Given the description of an element on the screen output the (x, y) to click on. 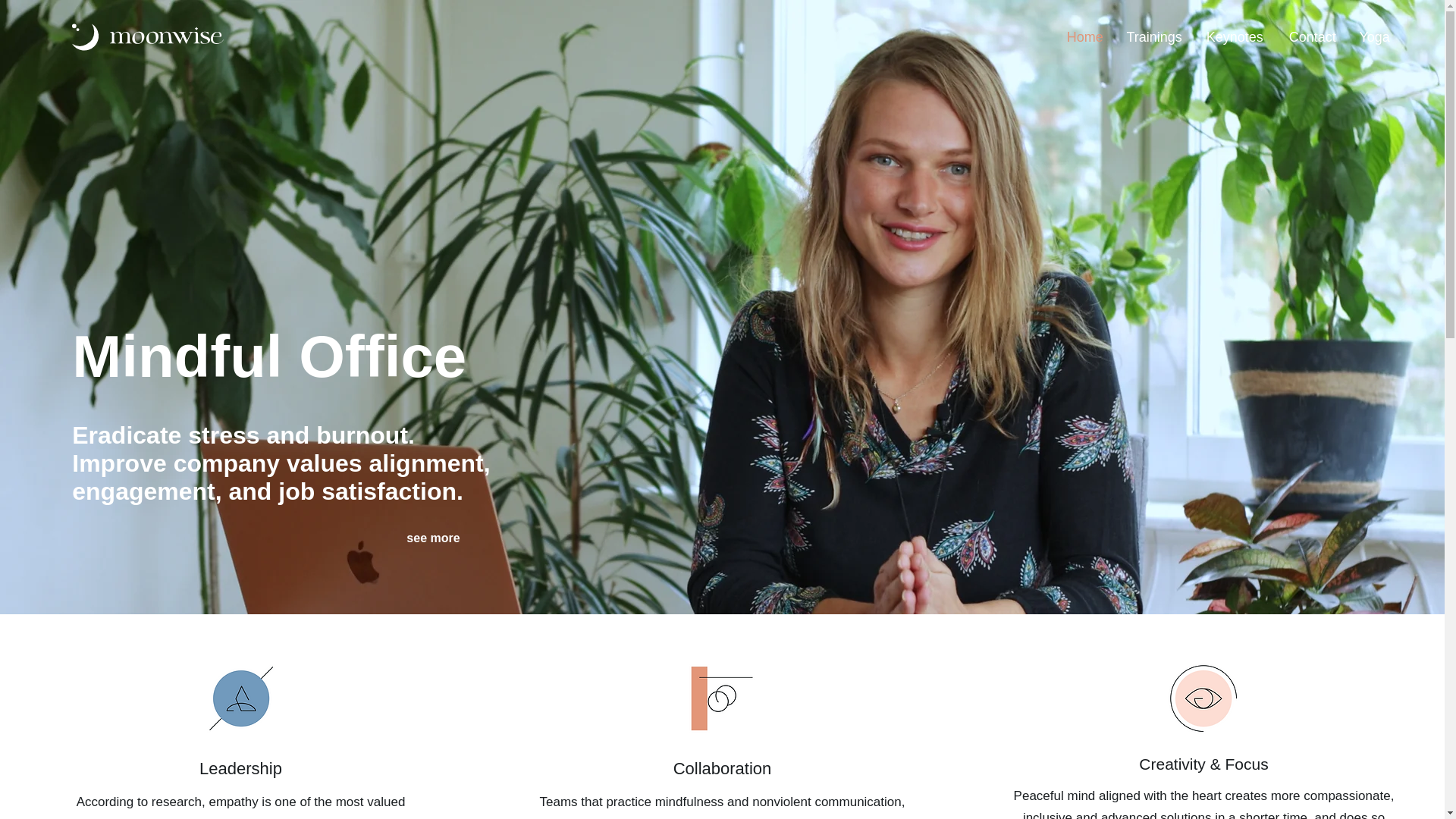
Contact (1311, 36)
see more (432, 538)
Yoga (1374, 36)
Trainings (1154, 36)
Keynotes (1234, 36)
Home (1084, 36)
